Given the description of an element on the screen output the (x, y) to click on. 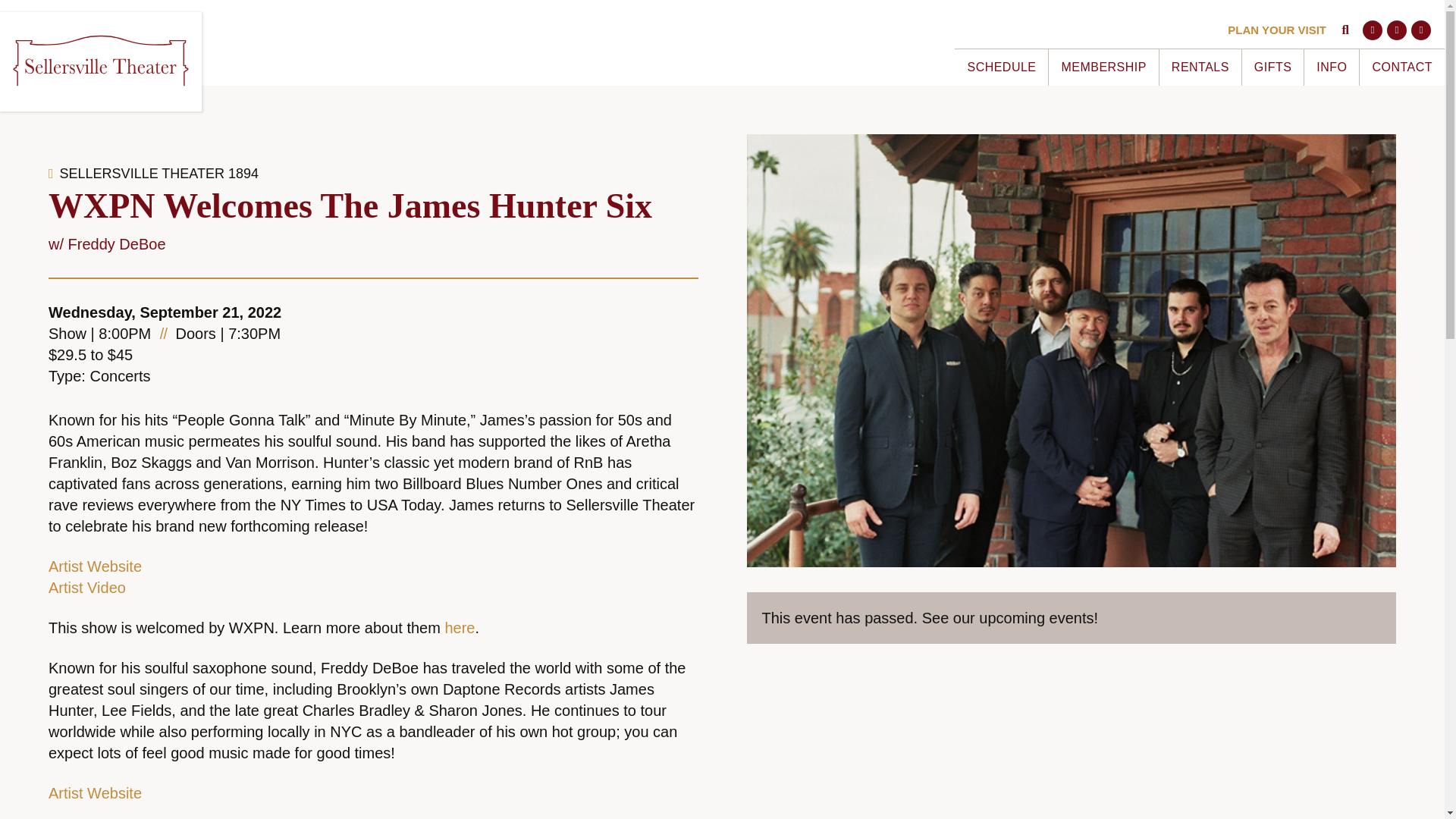
PLAN YOUR VISIT (1276, 29)
MEMBERSHIP (1102, 67)
SCHEDULE (1001, 67)
